Given the description of an element on the screen output the (x, y) to click on. 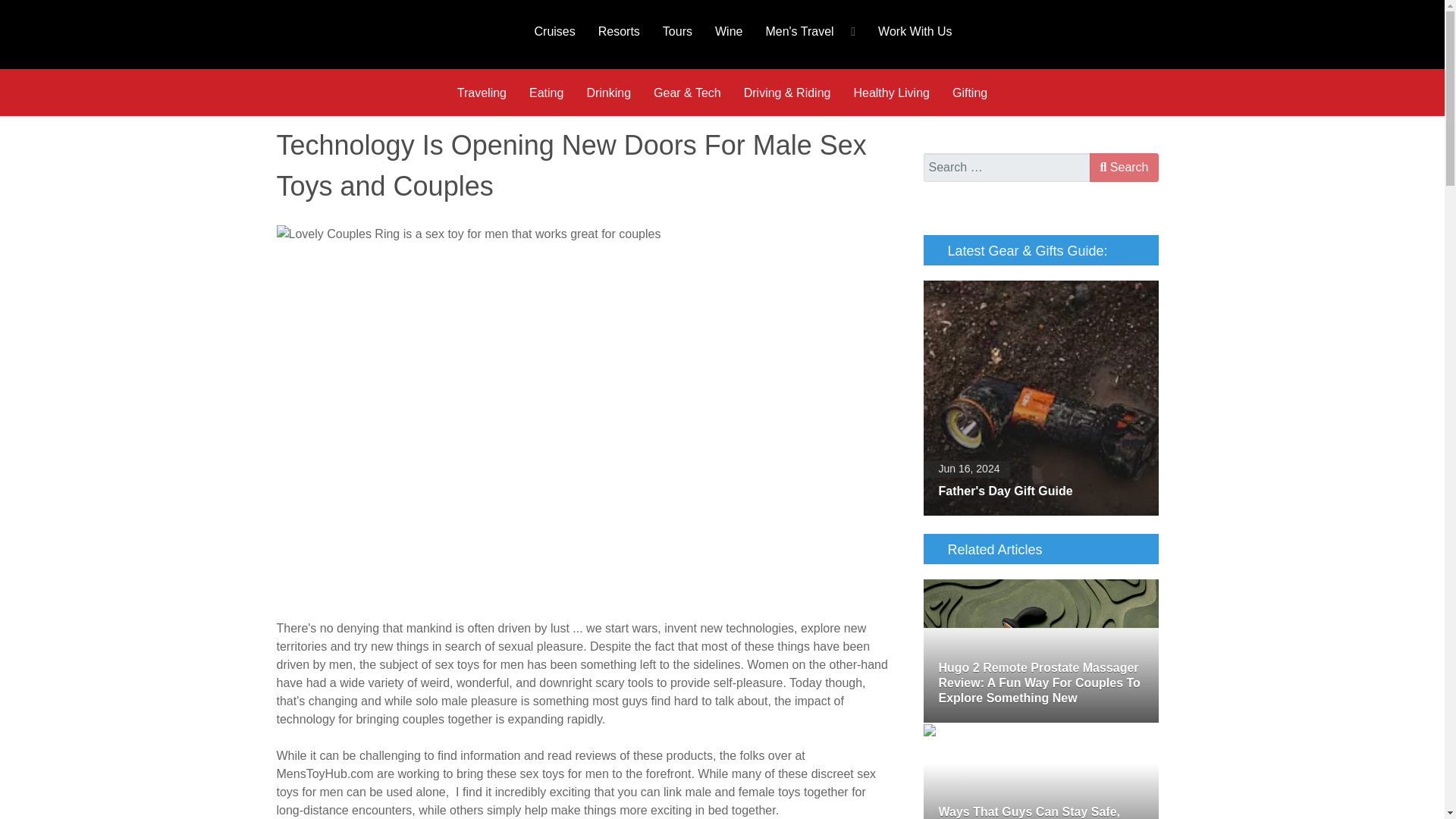
Eating (546, 92)
Work With Us (914, 30)
Traveling (481, 92)
ManTripping.com Logo (385, 34)
Drinking (608, 92)
Tours (676, 30)
Cruises (554, 30)
Gifting (969, 92)
